Given the description of an element on the screen output the (x, y) to click on. 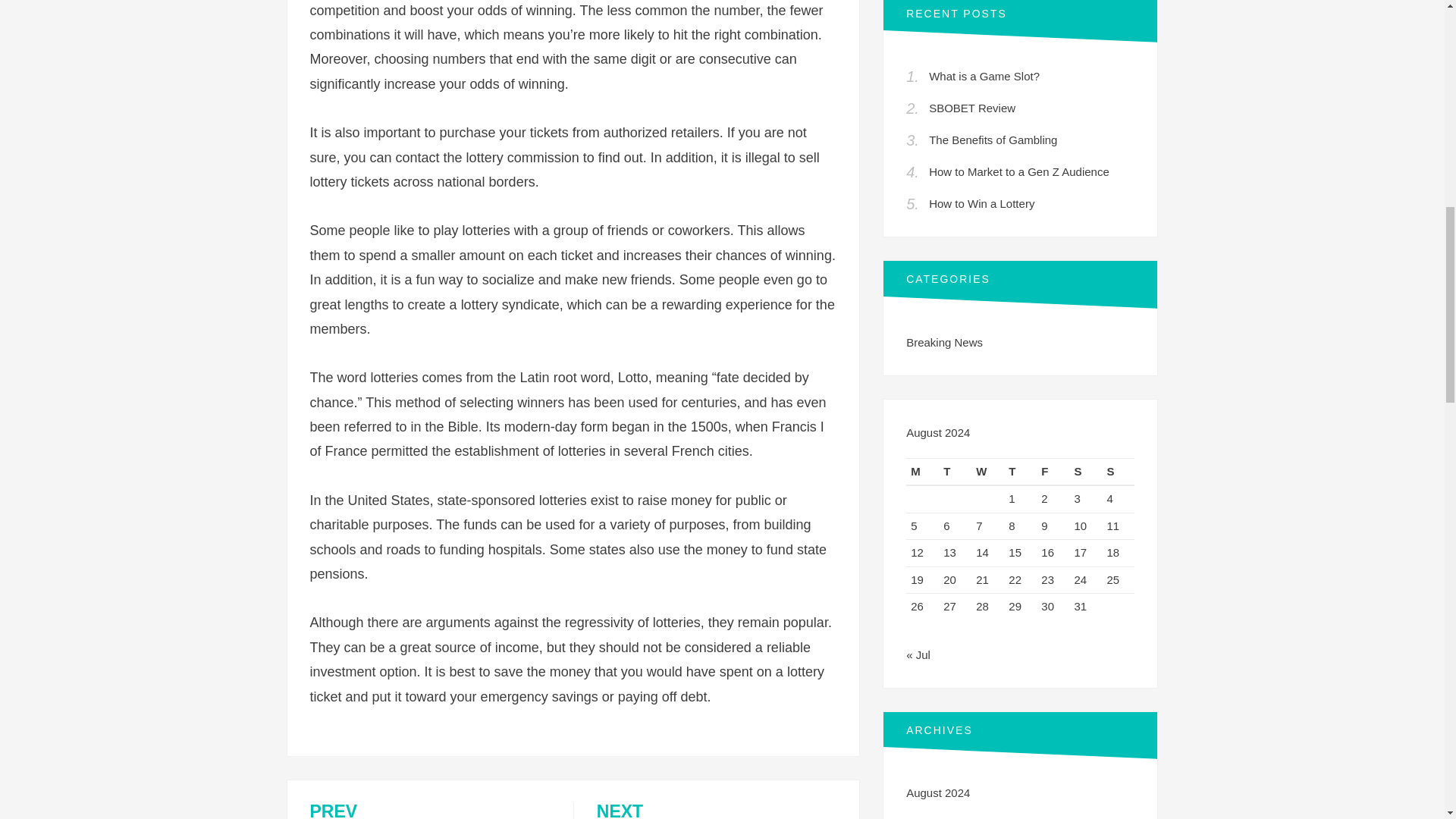
11 (1112, 525)
Friday (1052, 471)
How to Market to a Gen Z Audience (1018, 171)
What is a Game Slot? (715, 811)
10 (983, 75)
Breaking News (1080, 525)
Thursday (943, 341)
Monday (1020, 471)
14 (922, 471)
